Given the description of an element on the screen output the (x, y) to click on. 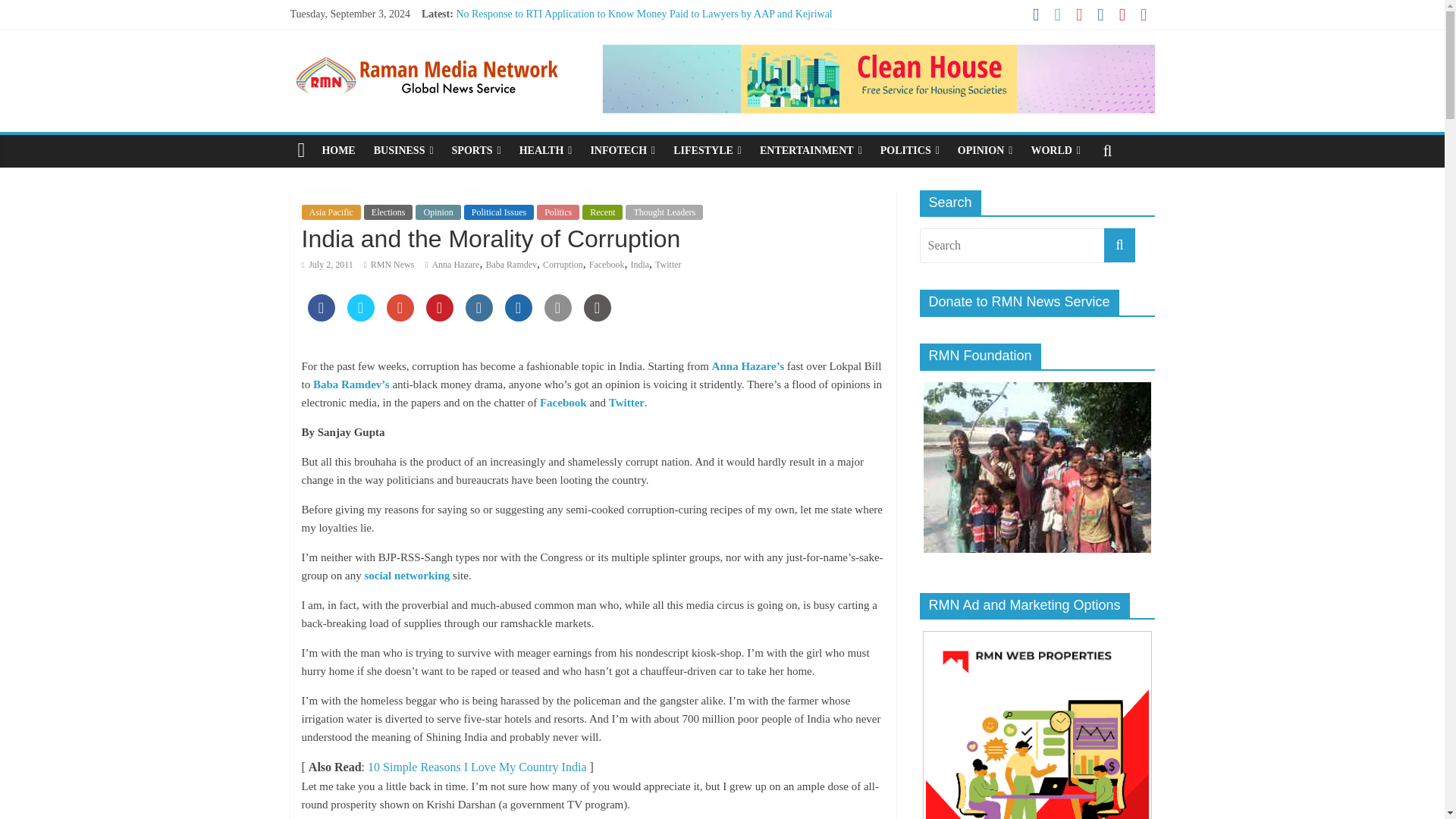
HOME (338, 151)
Report Corruption in Delhi Housing Societies to Clean House (587, 64)
INFOTECH (621, 151)
BUSINESS (403, 151)
LIFESTYLE (707, 151)
